Given the description of an element on the screen output the (x, y) to click on. 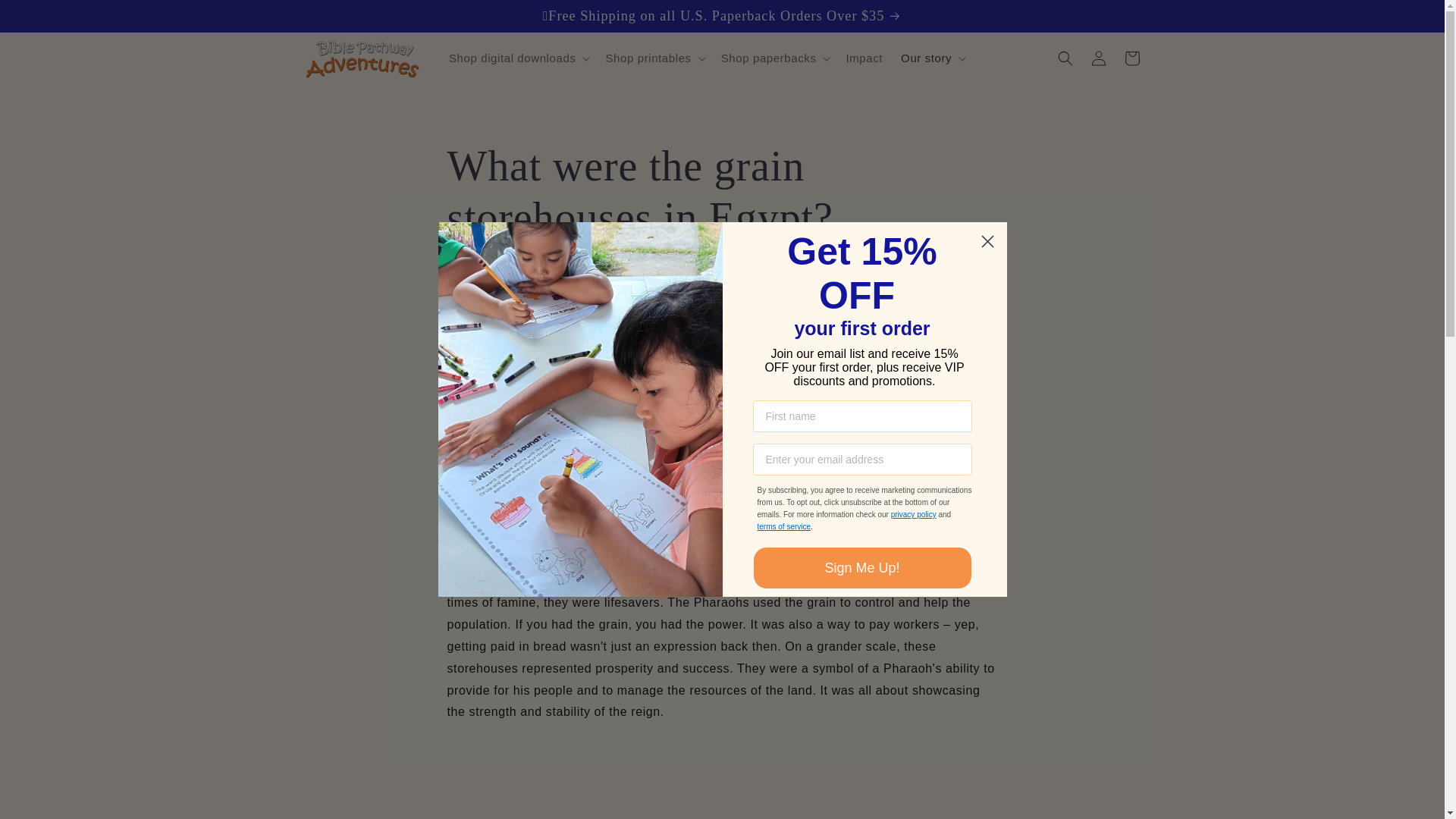
Skip to content (45, 17)
YouTube video player (721, 782)
